Given the description of an element on the screen output the (x, y) to click on. 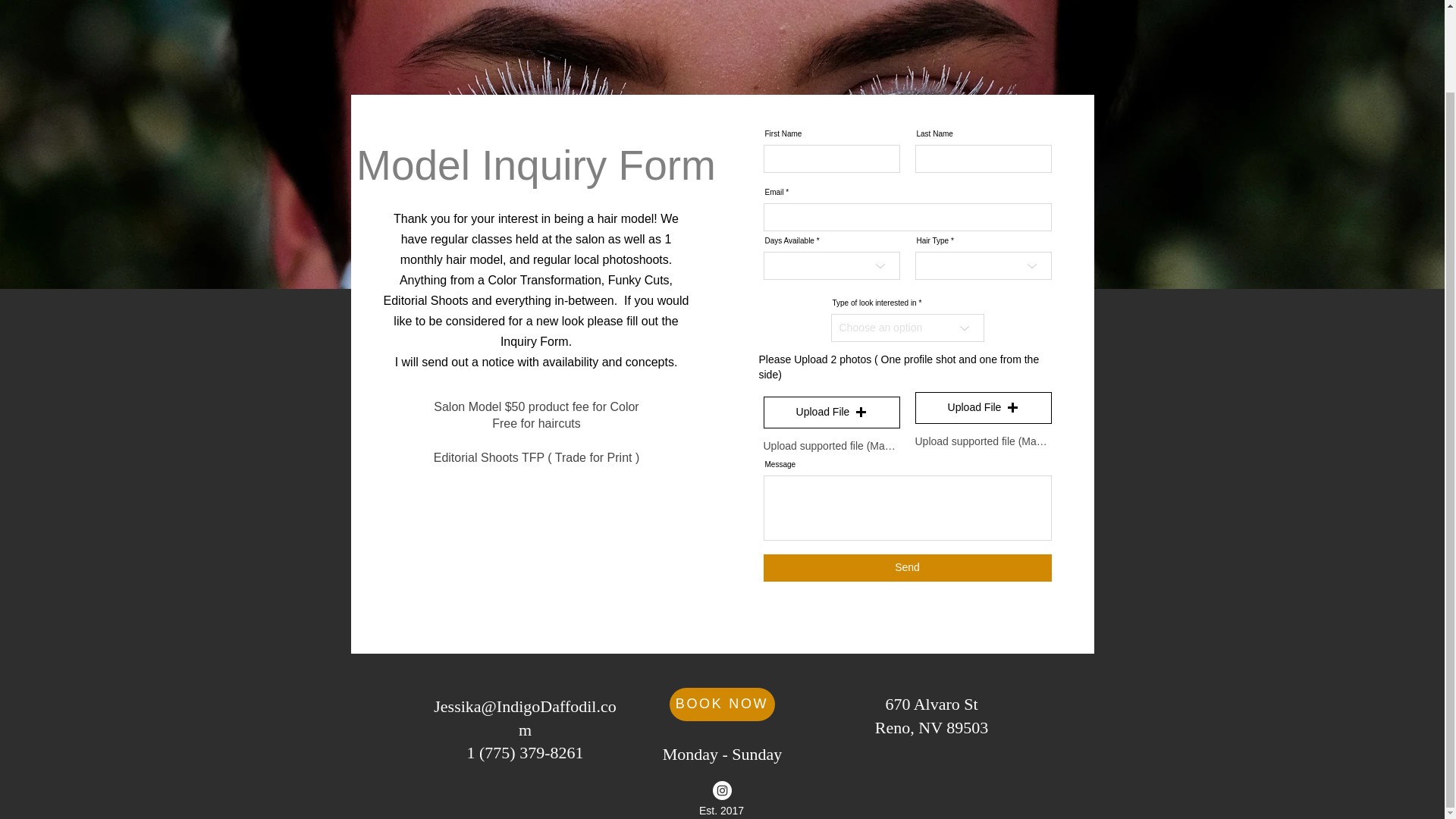
BOOK NOW (931, 715)
Monday - Sunday (721, 703)
Send (722, 753)
